Given the description of an element on the screen output the (x, y) to click on. 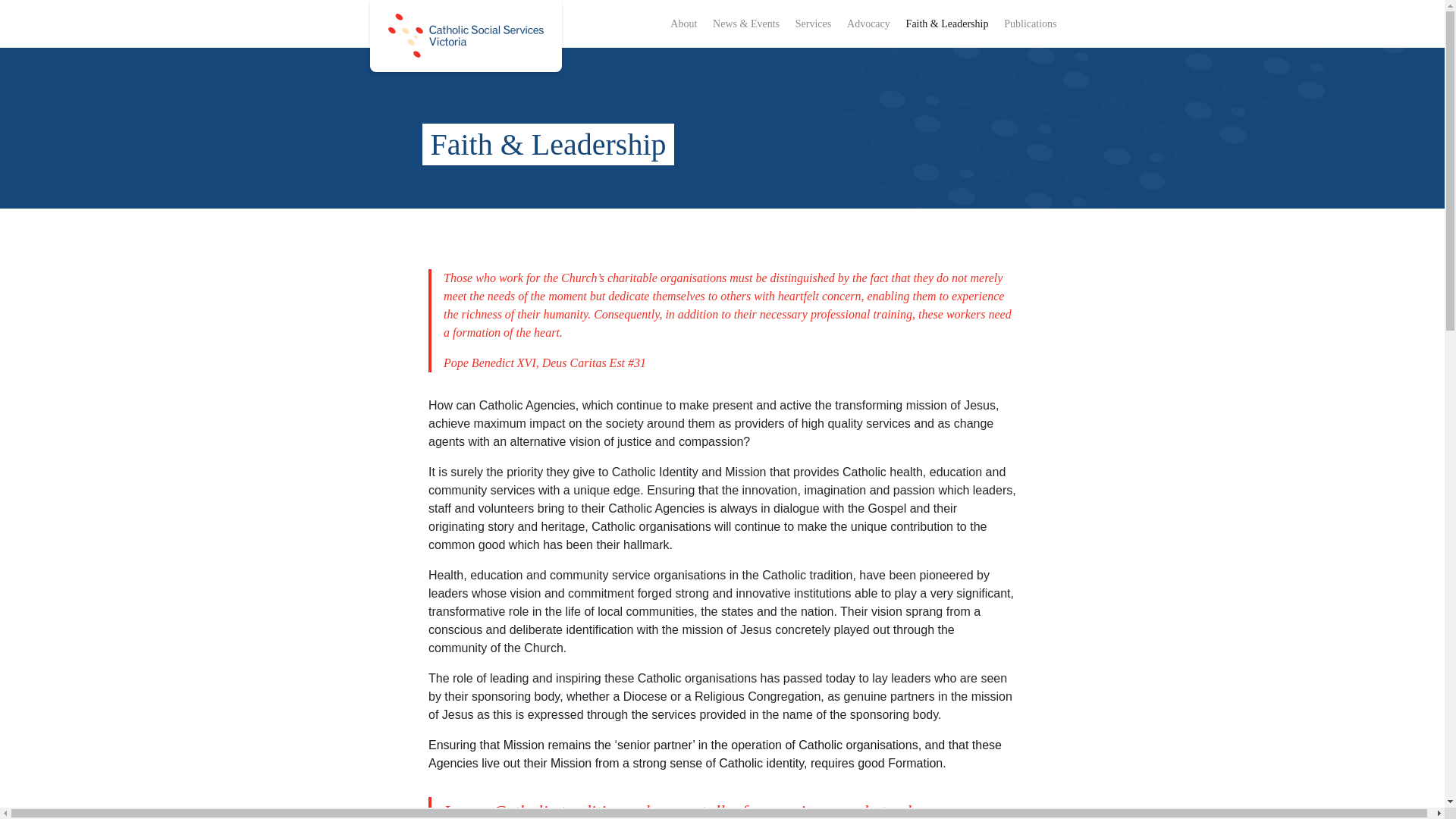
Advocacy (868, 23)
Advocacy (868, 23)
Services (813, 23)
Services (813, 23)
About (683, 23)
Publications (1029, 23)
About (683, 23)
